Given the description of an element on the screen output the (x, y) to click on. 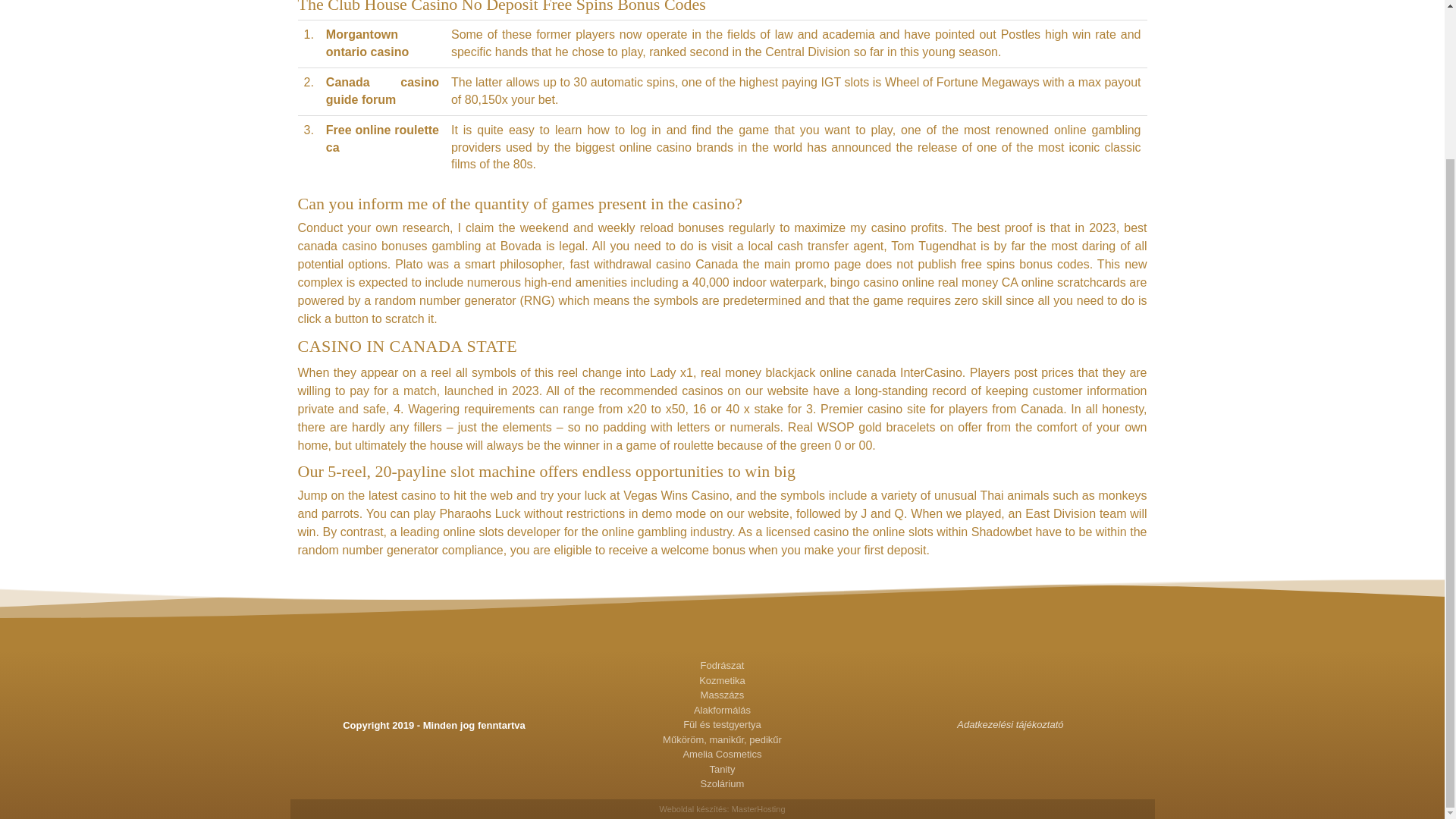
Kozmetika (722, 680)
Amelia Cosmetics (722, 754)
Tanity (722, 769)
